Given the description of an element on the screen output the (x, y) to click on. 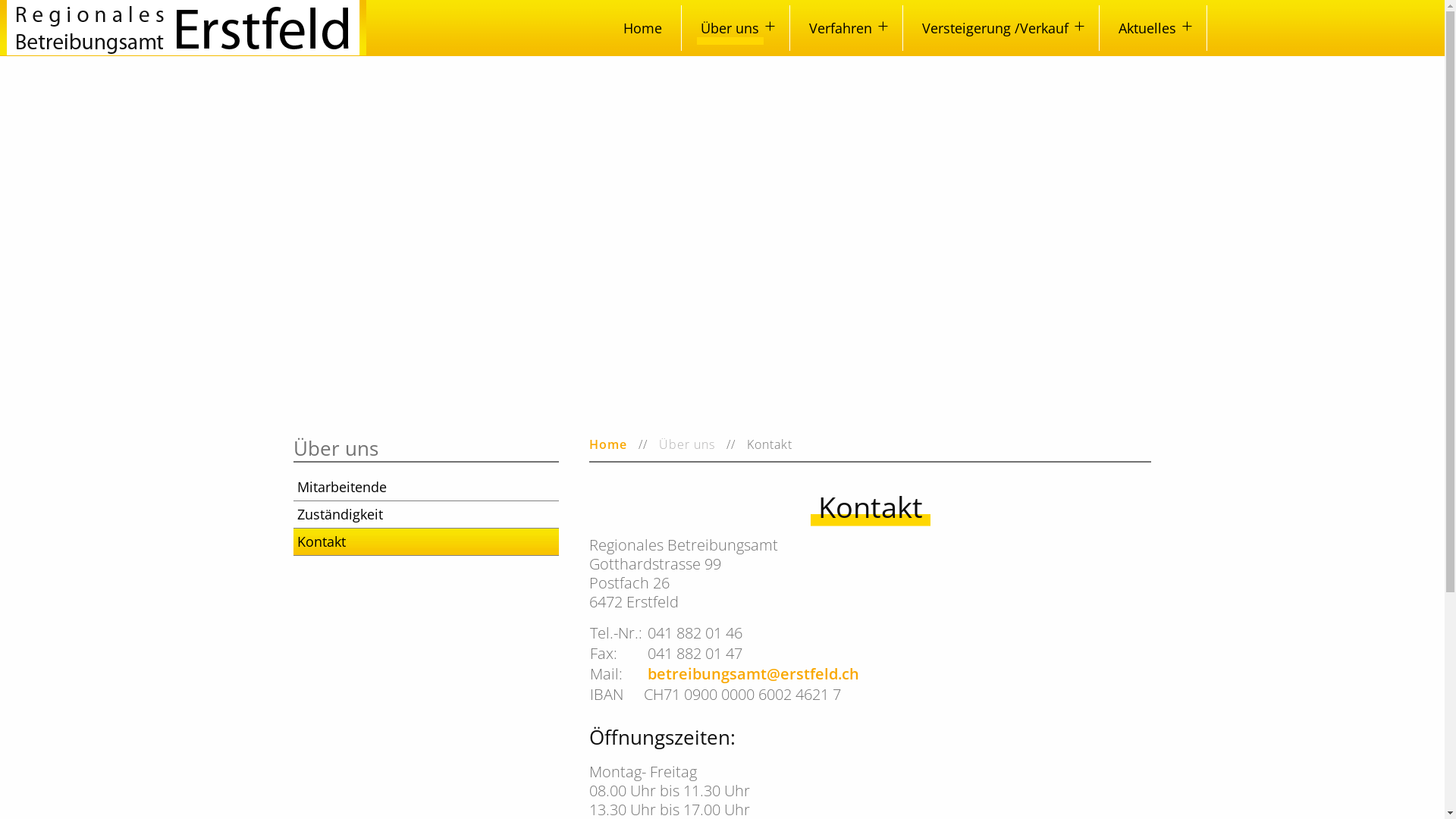
Home Element type: text (641, 27)
Verfahren Element type: text (846, 27)
Home Element type: text (608, 444)
Versteigerung /Verkauf Element type: text (999, 27)
 betreibungsamt@erstfeld.ch Element type: text (751, 673)
Mitarbeitende Element type: text (425, 487)
Aktuelles Element type: text (1152, 27)
Kontakt Element type: text (425, 541)
